Given the description of an element on the screen output the (x, y) to click on. 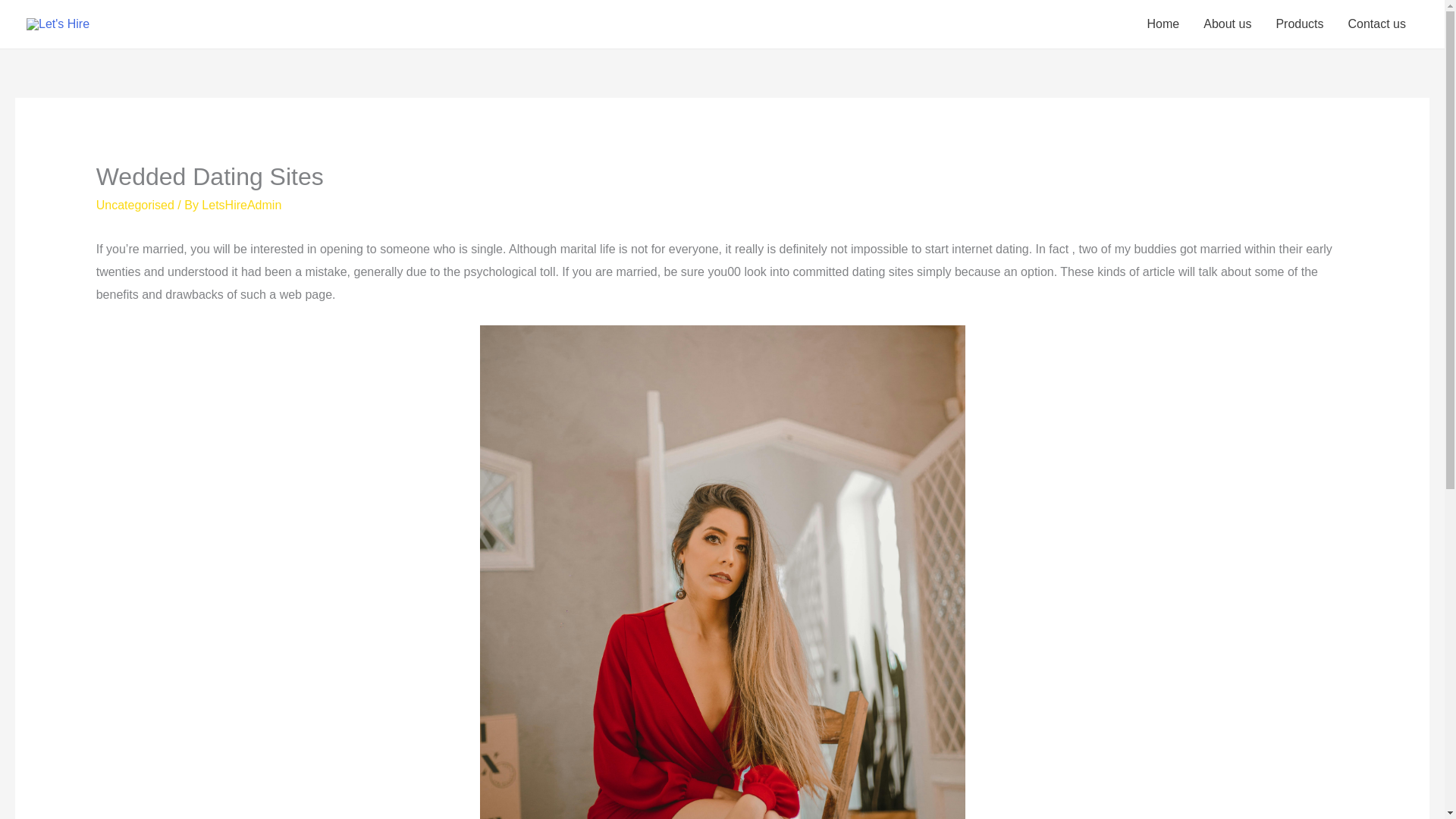
About us (1227, 24)
Uncategorised (135, 205)
Contact us (1377, 24)
Products (1299, 24)
Home (1163, 24)
LetsHireAdmin (241, 205)
View all posts by LetsHireAdmin (241, 205)
